Given the description of an element on the screen output the (x, y) to click on. 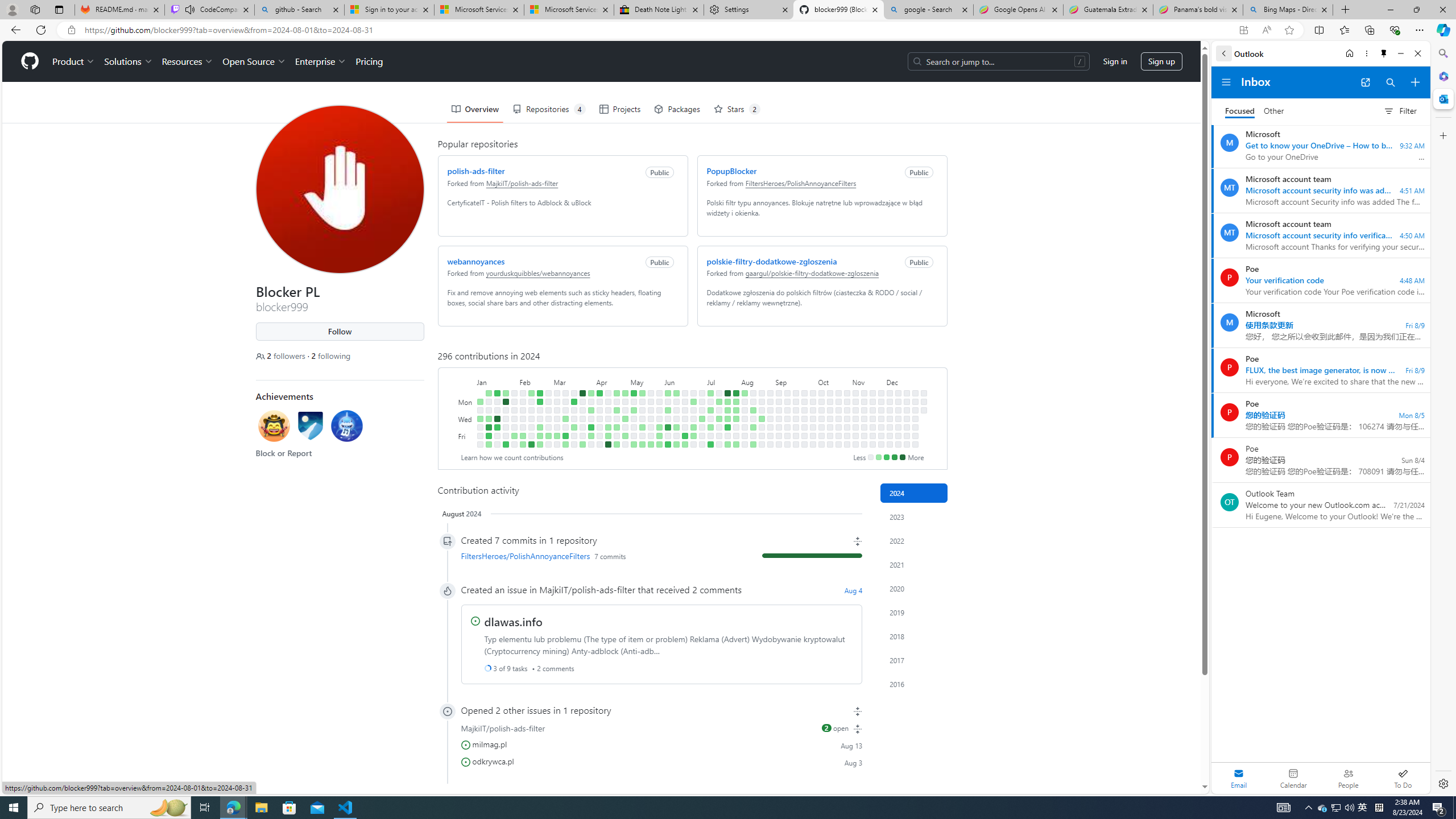
1 contribution on June 24th. (693, 401)
Achievement: Quickdraw (273, 425)
polish-ads-filter (475, 170)
View blocker999's full-sized avatar (338, 188)
No contributions on December 13th. (897, 435)
No contributions on September 1st. (777, 392)
No contributions on August 11th. (753, 392)
No contributions on October 14th. (829, 401)
No contributions on September 12th. (786, 427)
6 contributions on March 15th. (565, 435)
No contributions on March 7th. (556, 427)
No contributions on June 25th. (693, 410)
No contributions on December 28th. (914, 444)
3 contributions on July 17th. (718, 418)
